Given the description of an element on the screen output the (x, y) to click on. 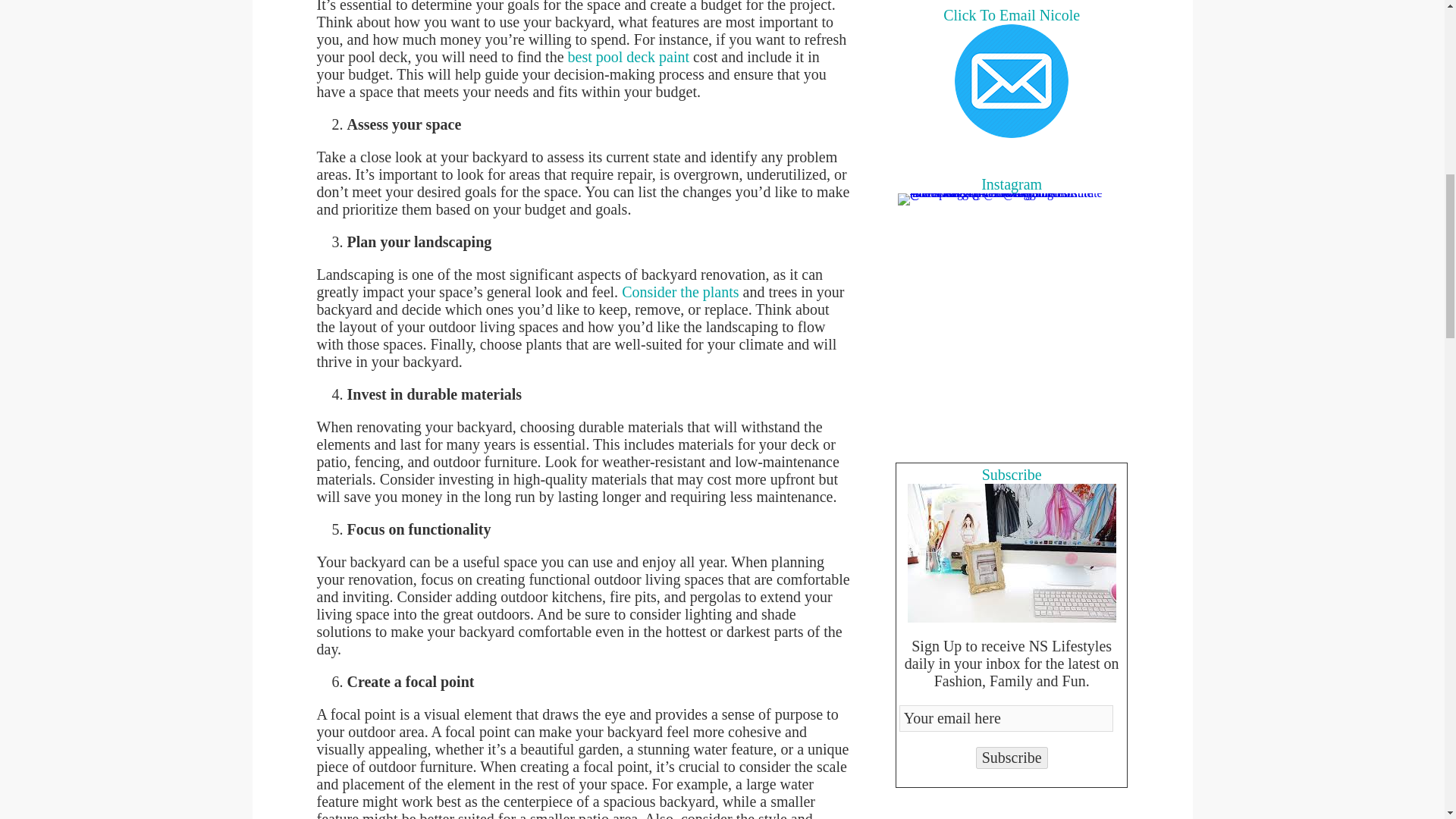
Your email here (1006, 718)
Consider the plants (679, 291)
best pool deck paint (628, 56)
Click To Email Nicole (1011, 81)
Subscribe (1011, 757)
